Given the description of an element on the screen output the (x, y) to click on. 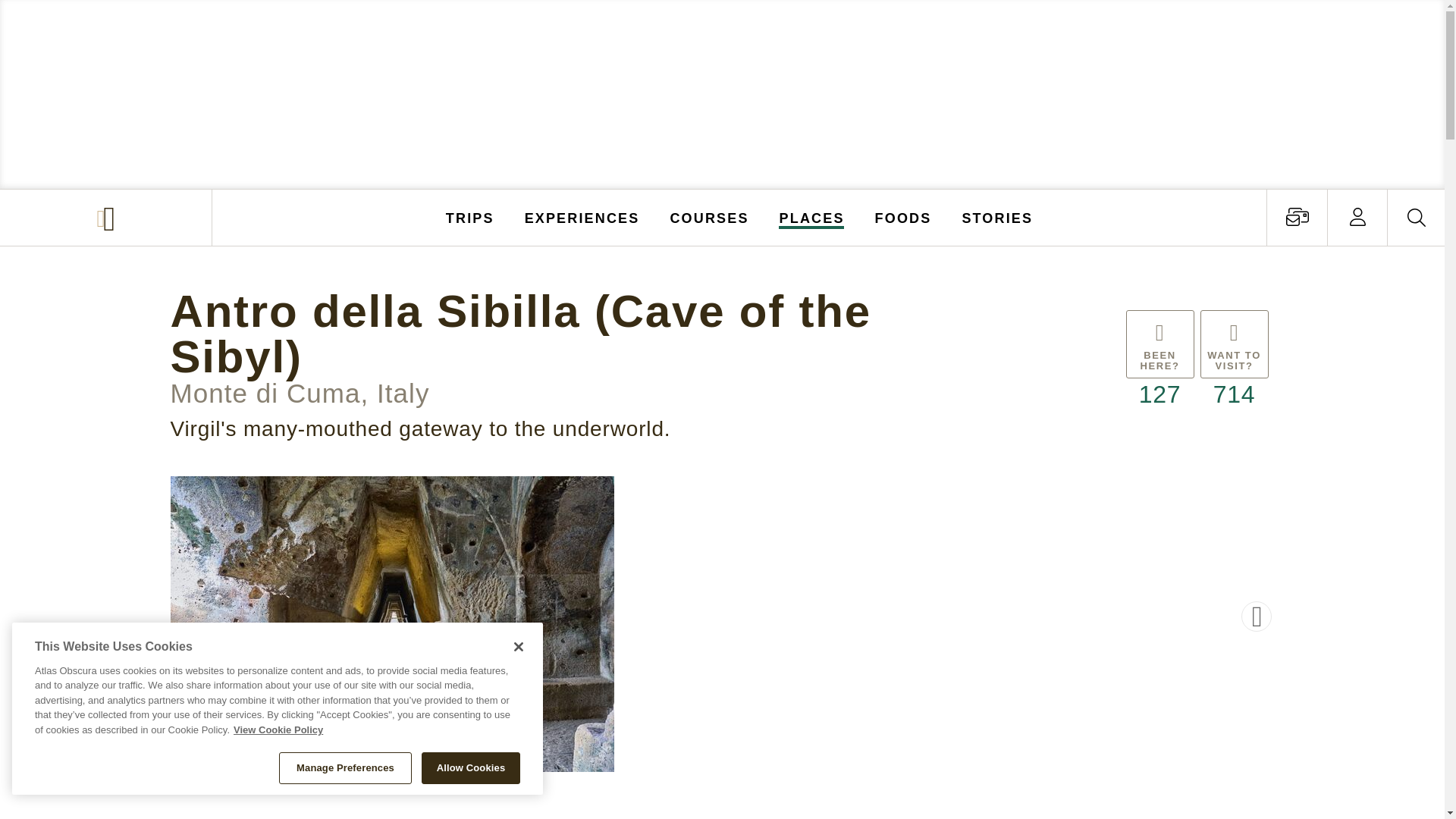
PLACES (812, 217)
TRIPS (469, 217)
EXPERIENCES (582, 217)
COURSES (707, 217)
